Given the description of an element on the screen output the (x, y) to click on. 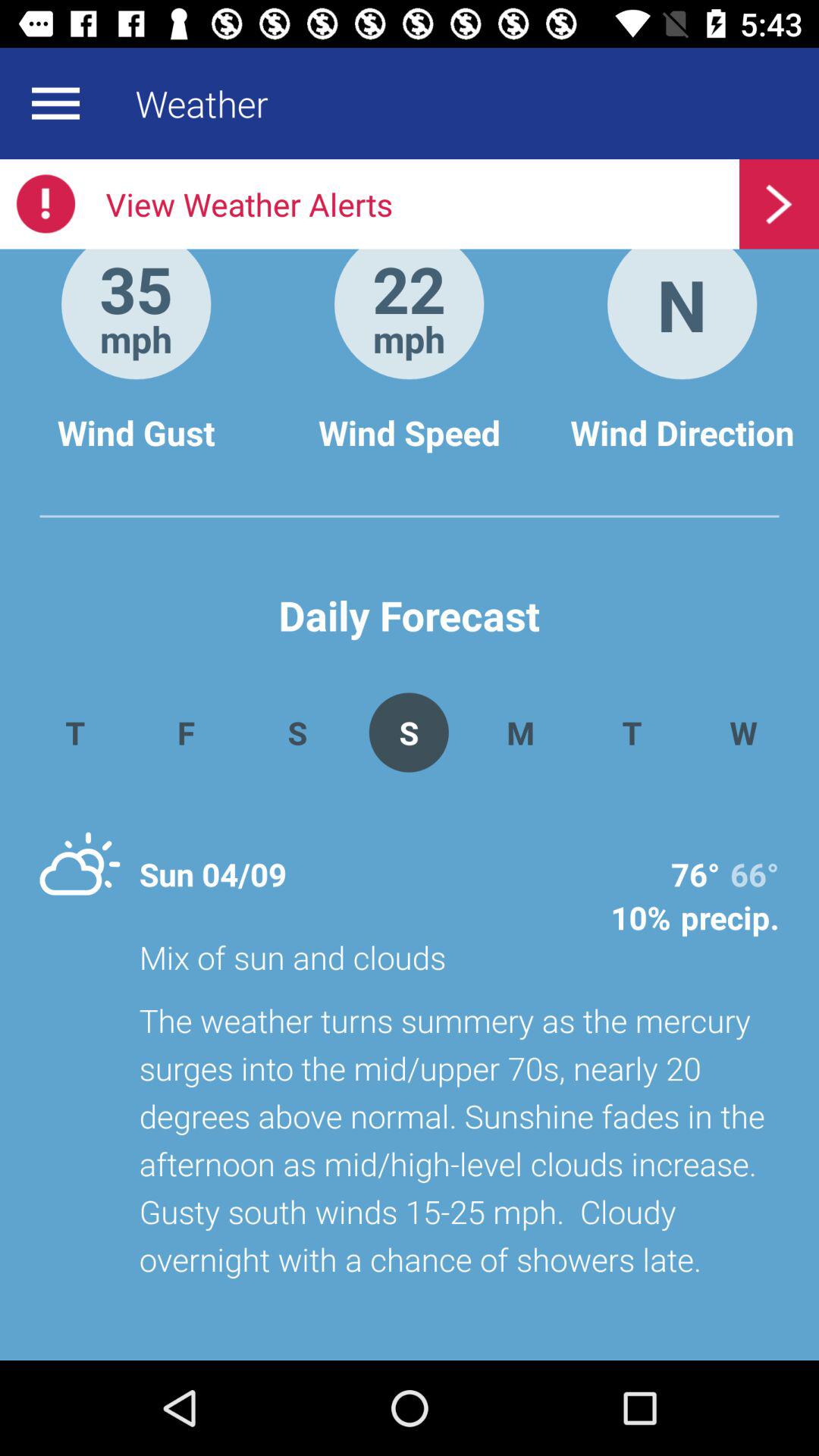
choose item to the right of s app (520, 732)
